Given the description of an element on the screen output the (x, y) to click on. 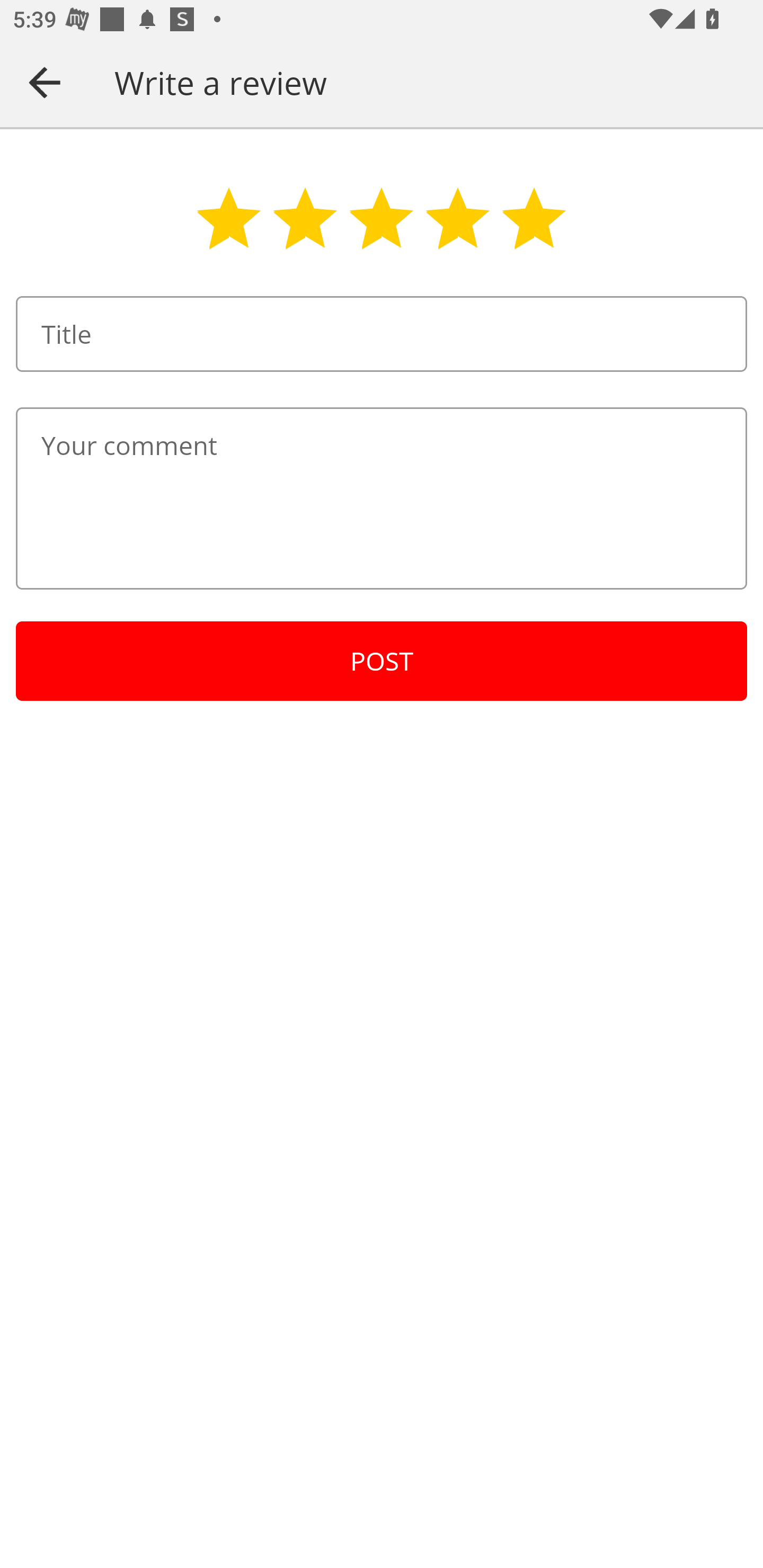
Navigate up (44, 82)
Title (381, 333)
Your comment (381, 498)
POST (381, 660)
